Given the description of an element on the screen output the (x, y) to click on. 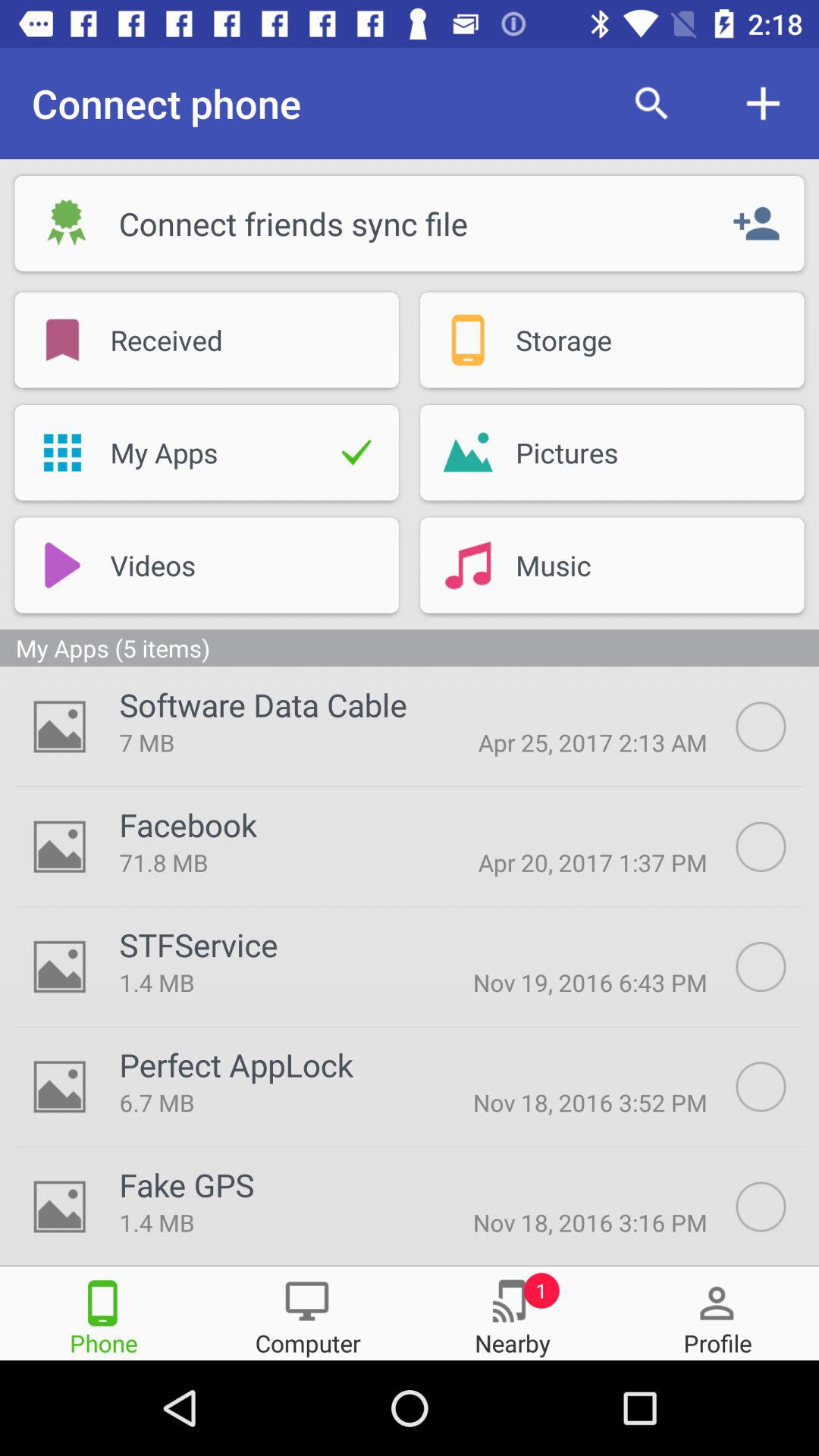
open item next to the nov 18 2016 icon (266, 1102)
